Given the description of an element on the screen output the (x, y) to click on. 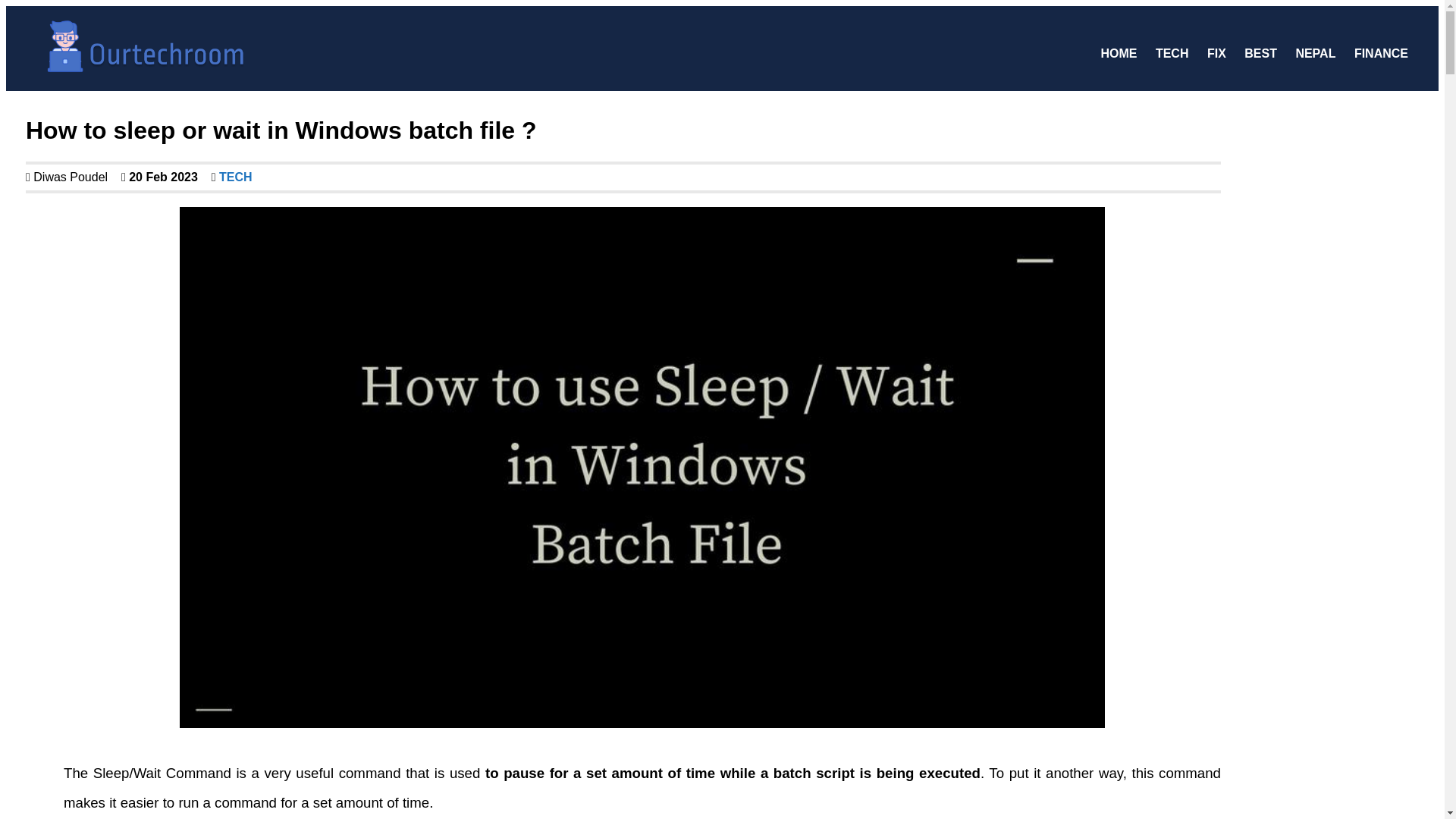
NEPAL (1314, 52)
TECH (1172, 52)
FINANCE (1380, 52)
BEST (1260, 52)
HOME (1118, 52)
FIX (1216, 52)
TECH (233, 176)
